Given the description of an element on the screen output the (x, y) to click on. 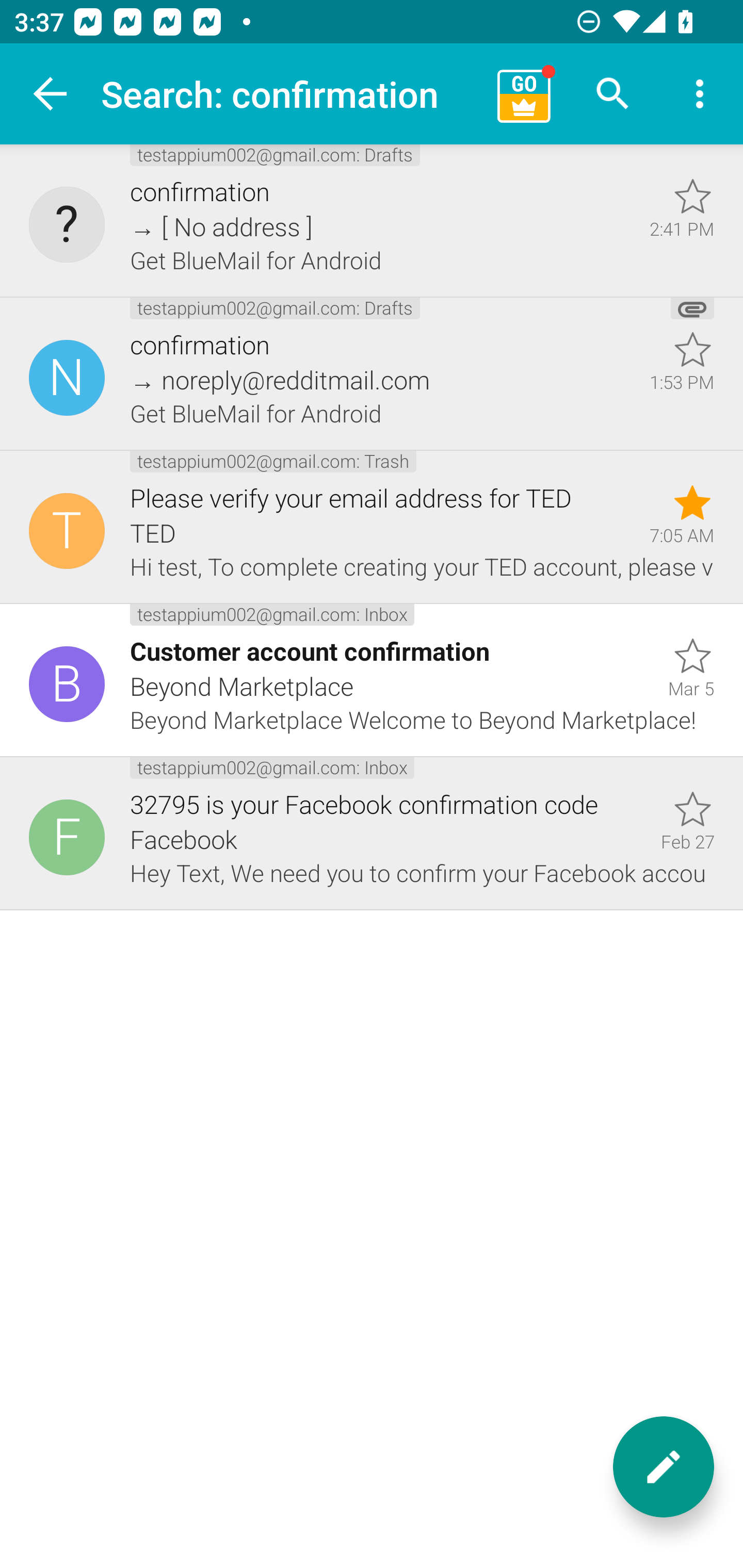
Navigate up (50, 93)
Search (612, 93)
More options (699, 93)
New message (663, 1466)
